Given the description of an element on the screen output the (x, y) to click on. 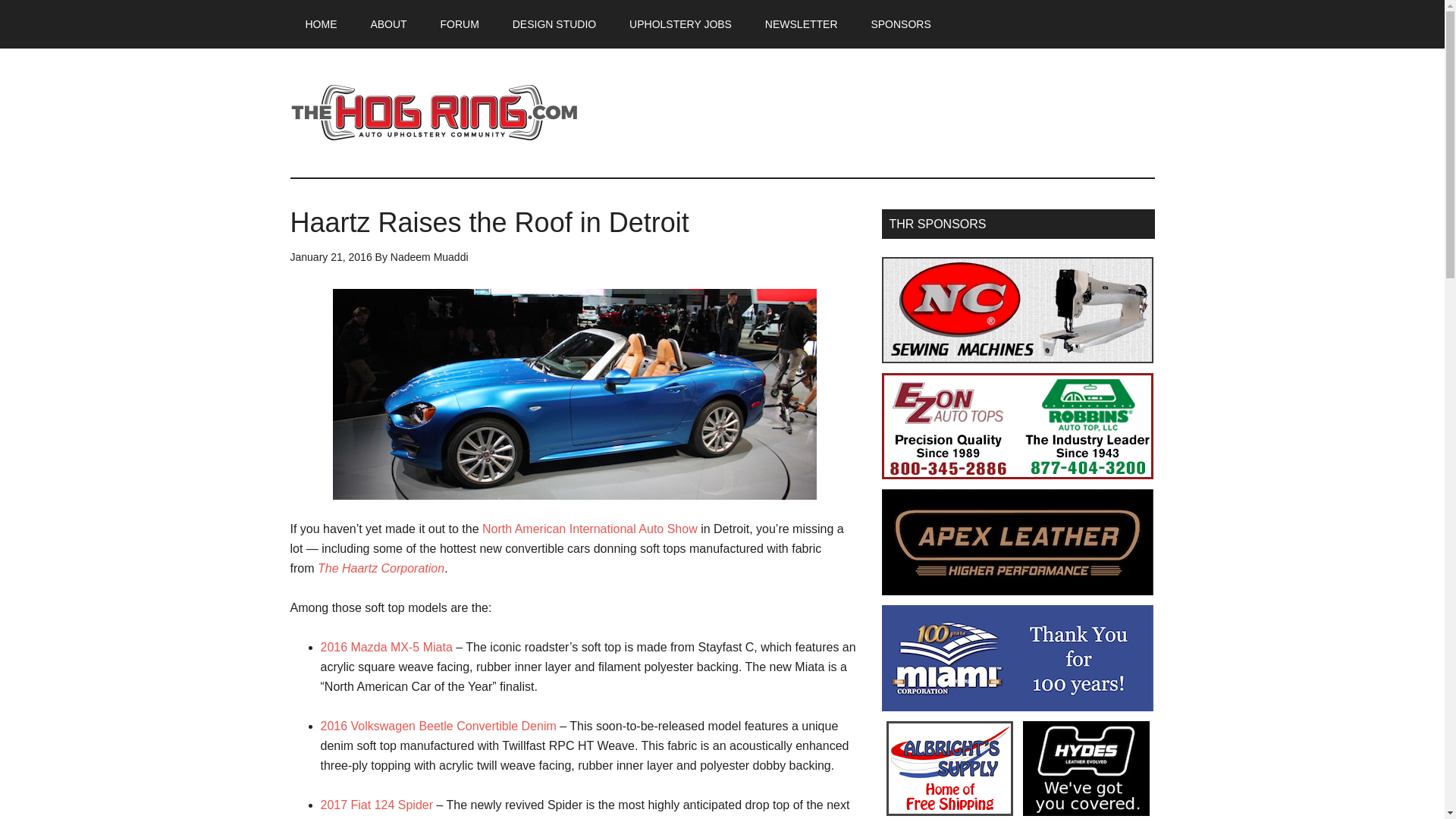
FORUM (460, 24)
The Haartz Corporation (380, 567)
Nadeem Muaddi (429, 256)
2016 Mazda MX-5 Miata (385, 646)
DESIGN STUDIO (554, 24)
ABOUT (388, 24)
HOME (320, 24)
2016 Volkswagen Beetle Convertible Denim (438, 725)
UPHOLSTERY JOBS (680, 24)
The Hog Ring (433, 112)
North American International Auto Show (589, 528)
NEWSLETTER (801, 24)
2017 Fiat 124 Spider (376, 804)
SPONSORS (900, 24)
